Given the description of an element on the screen output the (x, y) to click on. 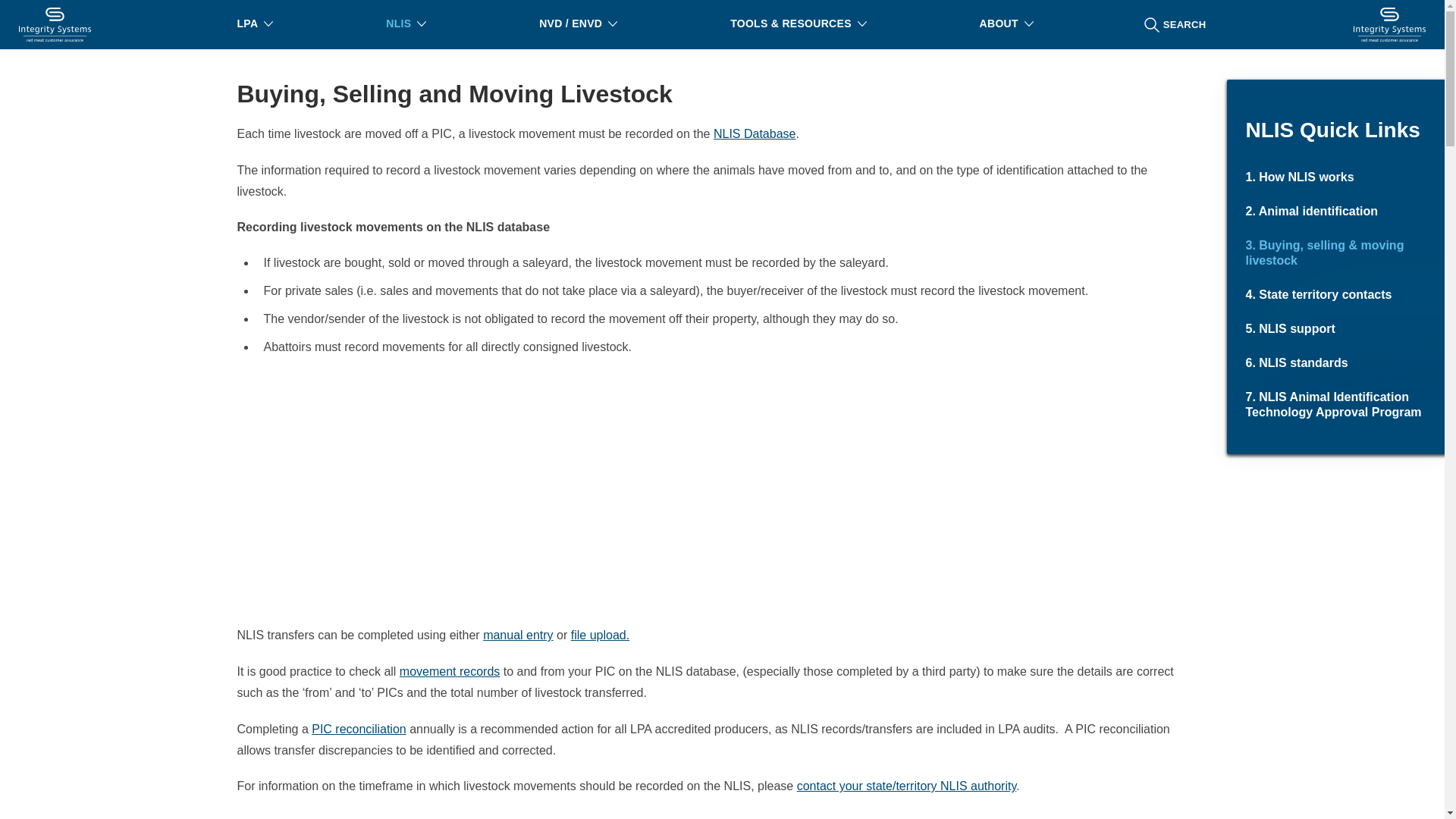
ISC (55, 24)
LPA (252, 23)
NLIS (404, 23)
NLIS (404, 23)
LPA (252, 23)
